Given the description of an element on the screen output the (x, y) to click on. 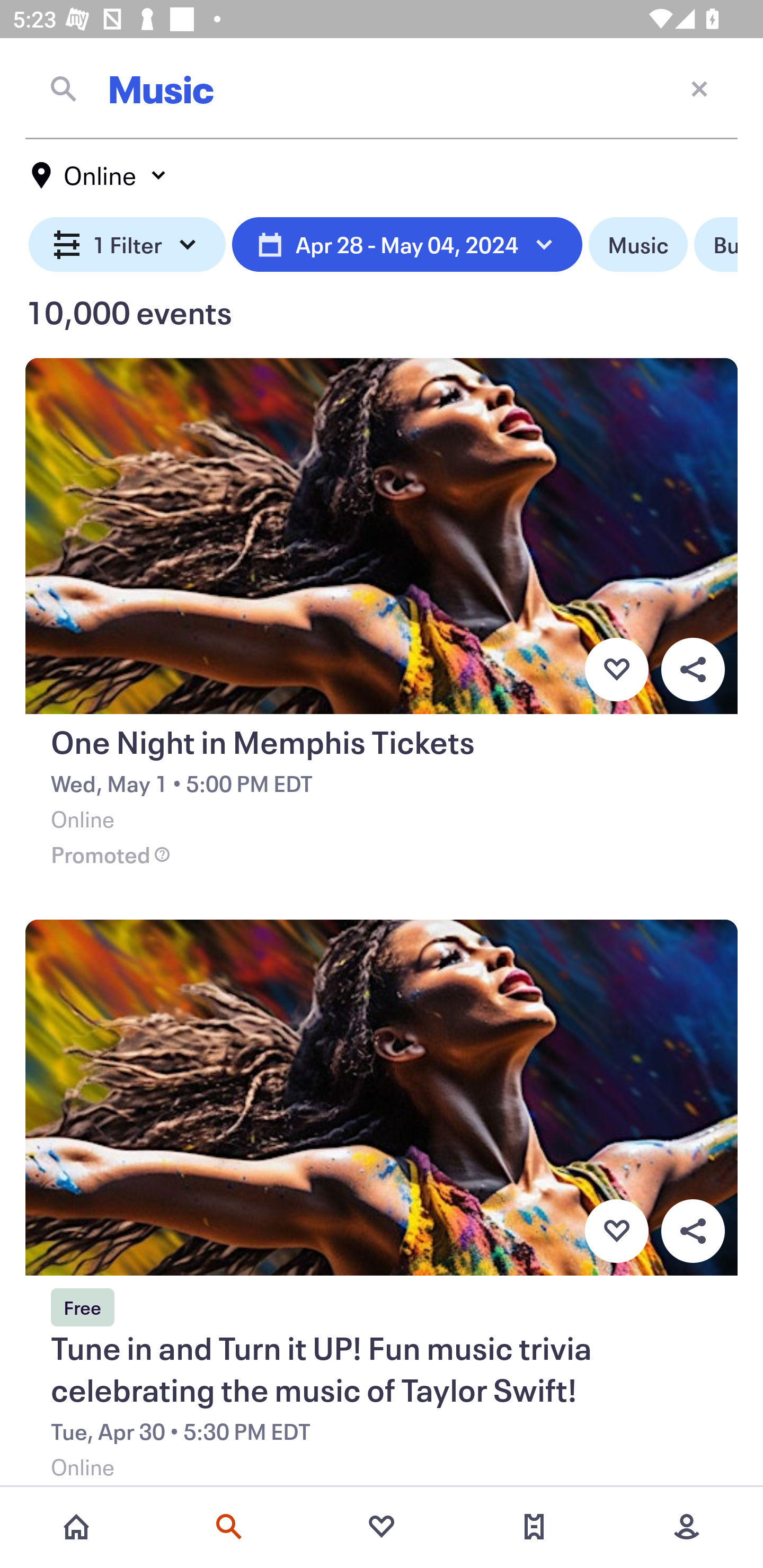
Music Close current screen (381, 88)
Close current screen (699, 88)
Online (99, 175)
1 Filter (126, 244)
Apr 28 - May 04, 2024 (406, 244)
Music (638, 244)
Favorite button (616, 669)
Overflow menu button (692, 669)
Favorite button (616, 1230)
Overflow menu button (692, 1230)
Home (76, 1526)
Search events (228, 1526)
Favorites (381, 1526)
Tickets (533, 1526)
More (686, 1526)
